Given the description of an element on the screen output the (x, y) to click on. 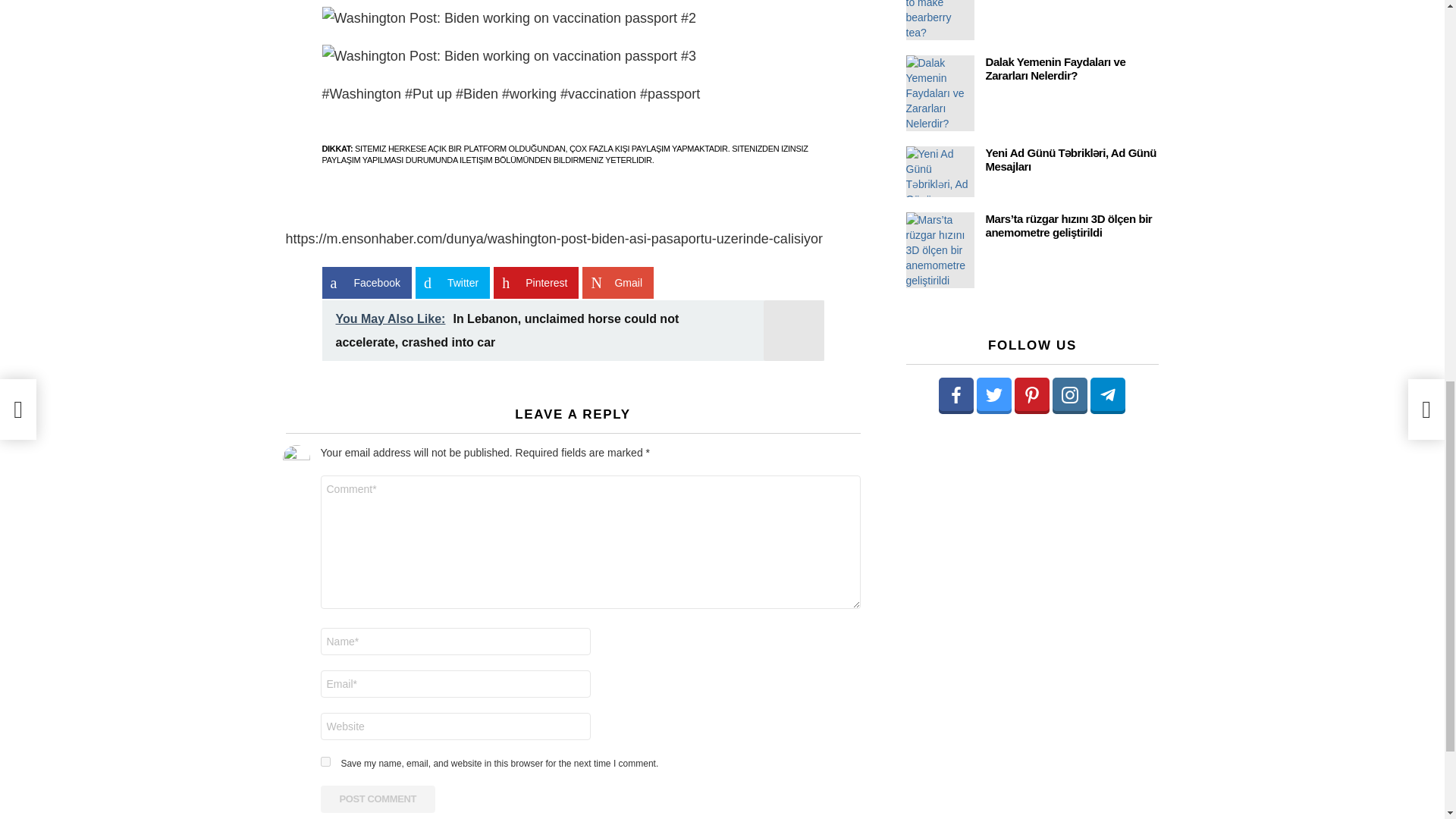
Share on Pinterest (535, 282)
Share on Facebook (365, 282)
Post Comment (377, 799)
yes (325, 761)
Share on Gmail (617, 282)
Share on Twitter (451, 282)
